Given the description of an element on the screen output the (x, y) to click on. 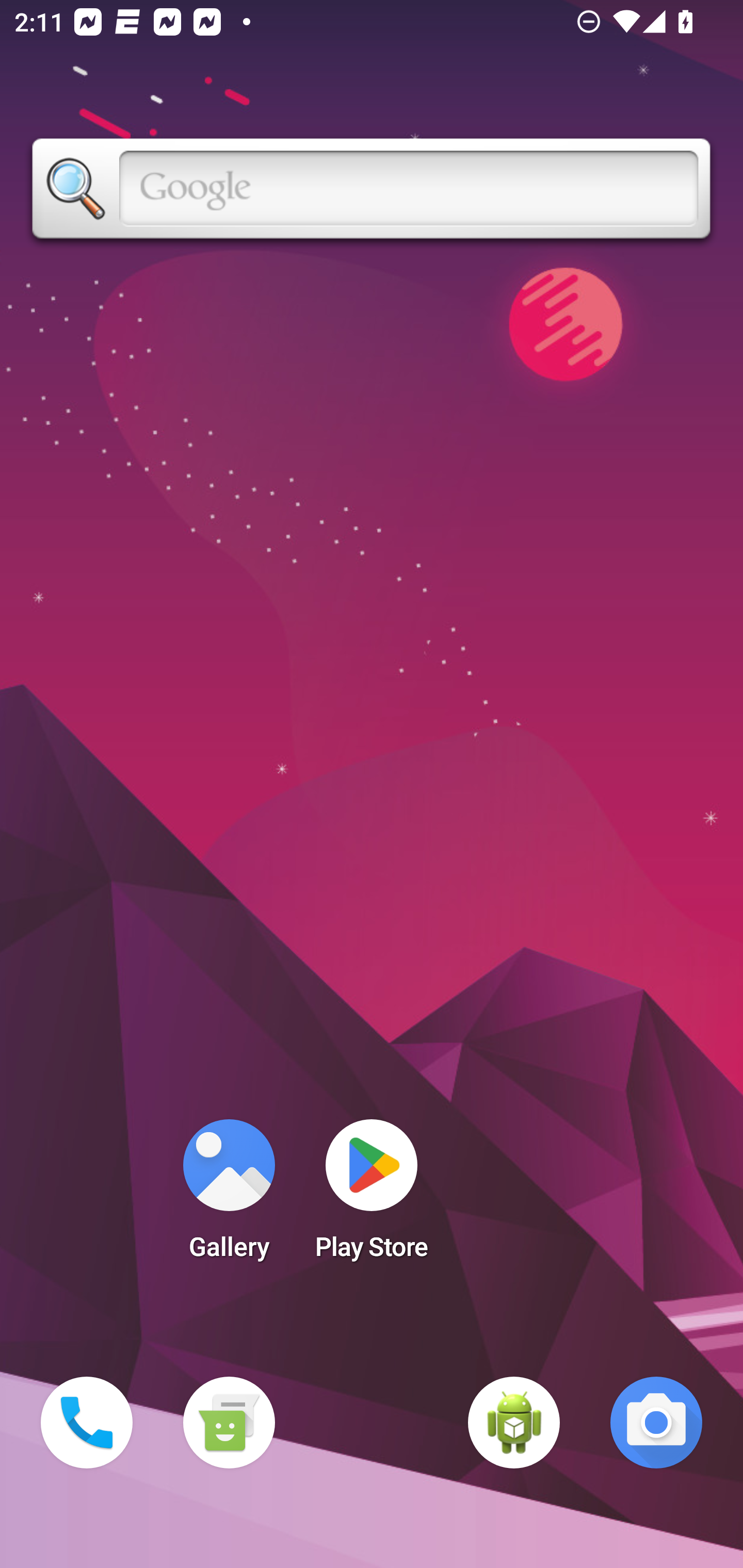
Gallery (228, 1195)
Play Store (371, 1195)
Phone (86, 1422)
Messaging (228, 1422)
WebView Browser Tester (513, 1422)
Camera (656, 1422)
